Given the description of an element on the screen output the (x, y) to click on. 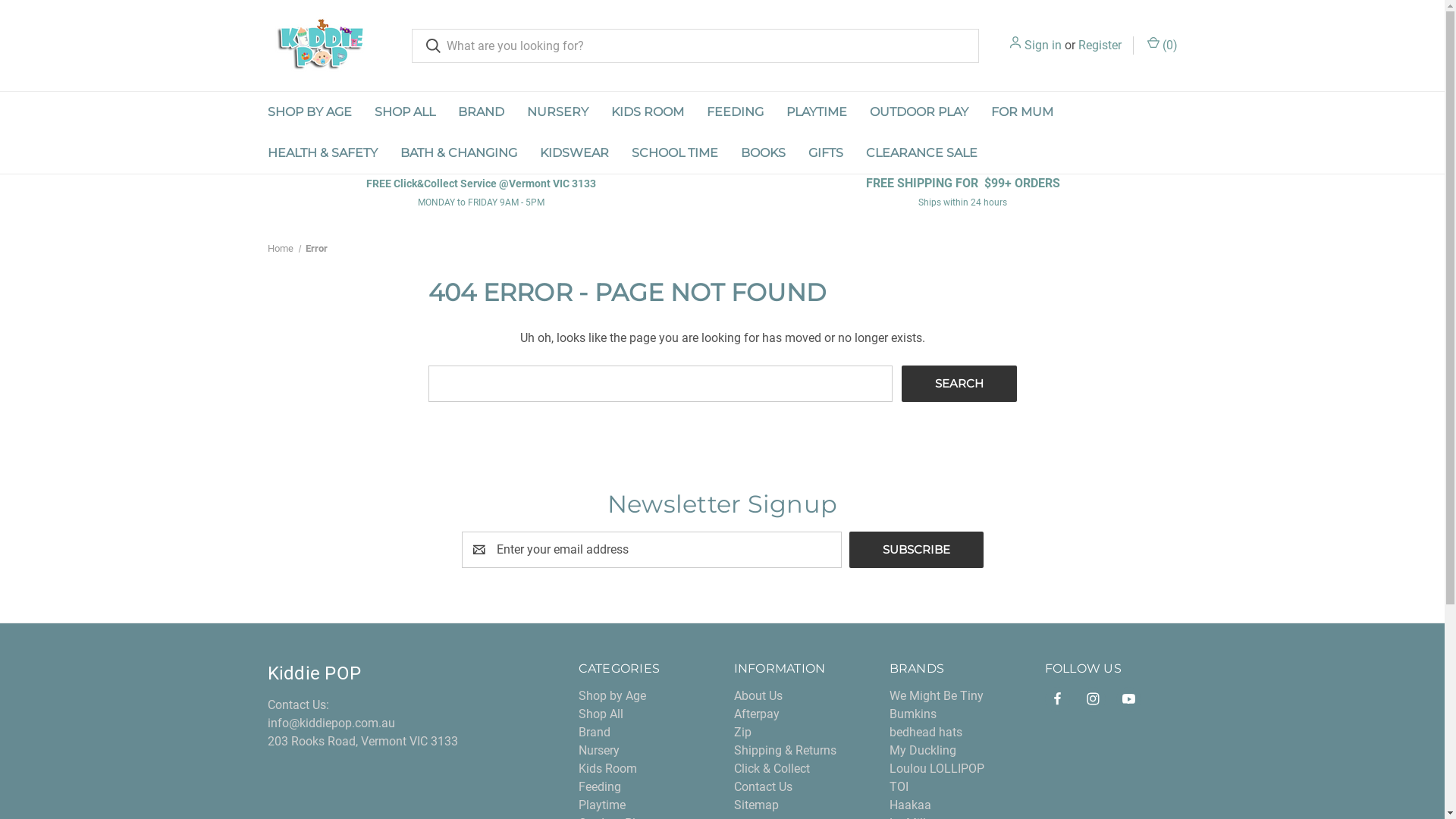
TOI Element type: text (898, 786)
Subscribe Element type: text (916, 548)
NURSERY Element type: text (557, 111)
CLEARANCE SALE Element type: text (920, 152)
Loulou LOLLIPOP Element type: text (936, 768)
Bumkins Element type: text (912, 713)
SCHOOL TIME Element type: text (674, 152)
Search Element type: text (958, 383)
FOR MUM Element type: text (1021, 111)
Home Element type: text (279, 248)
KIDS ROOM Element type: text (646, 111)
SHOP BY AGE Element type: text (309, 111)
Shipping & Returns Element type: text (785, 750)
We Might Be Tiny Element type: text (936, 695)
My Duckling Element type: text (922, 750)
Kids Room Element type: text (607, 768)
Contact Us Element type: text (763, 786)
Afterpay Element type: text (756, 713)
Click & Collect Element type: text (771, 768)
Haakaa Element type: text (910, 804)
OUTDOOR PLAY Element type: text (918, 111)
Kiddie Pop Element type: hover (316, 45)
GIFTS Element type: text (824, 152)
HEALTH & SAFETY Element type: text (322, 152)
BATH & CHANGING Element type: text (457, 152)
BRAND Element type: text (479, 111)
SHOP ALL Element type: text (403, 111)
(0) Element type: text (1161, 45)
KIDSWEAR Element type: text (573, 152)
Nursery Element type: text (598, 750)
Shop All Element type: text (600, 713)
bedhead hats Element type: text (925, 731)
Register Element type: text (1099, 45)
Playtime Element type: text (601, 804)
BOOKS Element type: text (763, 152)
FEEDING Element type: text (734, 111)
Brand Element type: text (594, 731)
Shop by Age Element type: text (612, 695)
Sign in Element type: text (1041, 45)
Zip Element type: text (742, 731)
Error Element type: text (315, 248)
About Us Element type: text (758, 695)
PLAYTIME Element type: text (816, 111)
Feeding Element type: text (599, 786)
Sitemap Element type: text (756, 804)
